Given the description of an element on the screen output the (x, y) to click on. 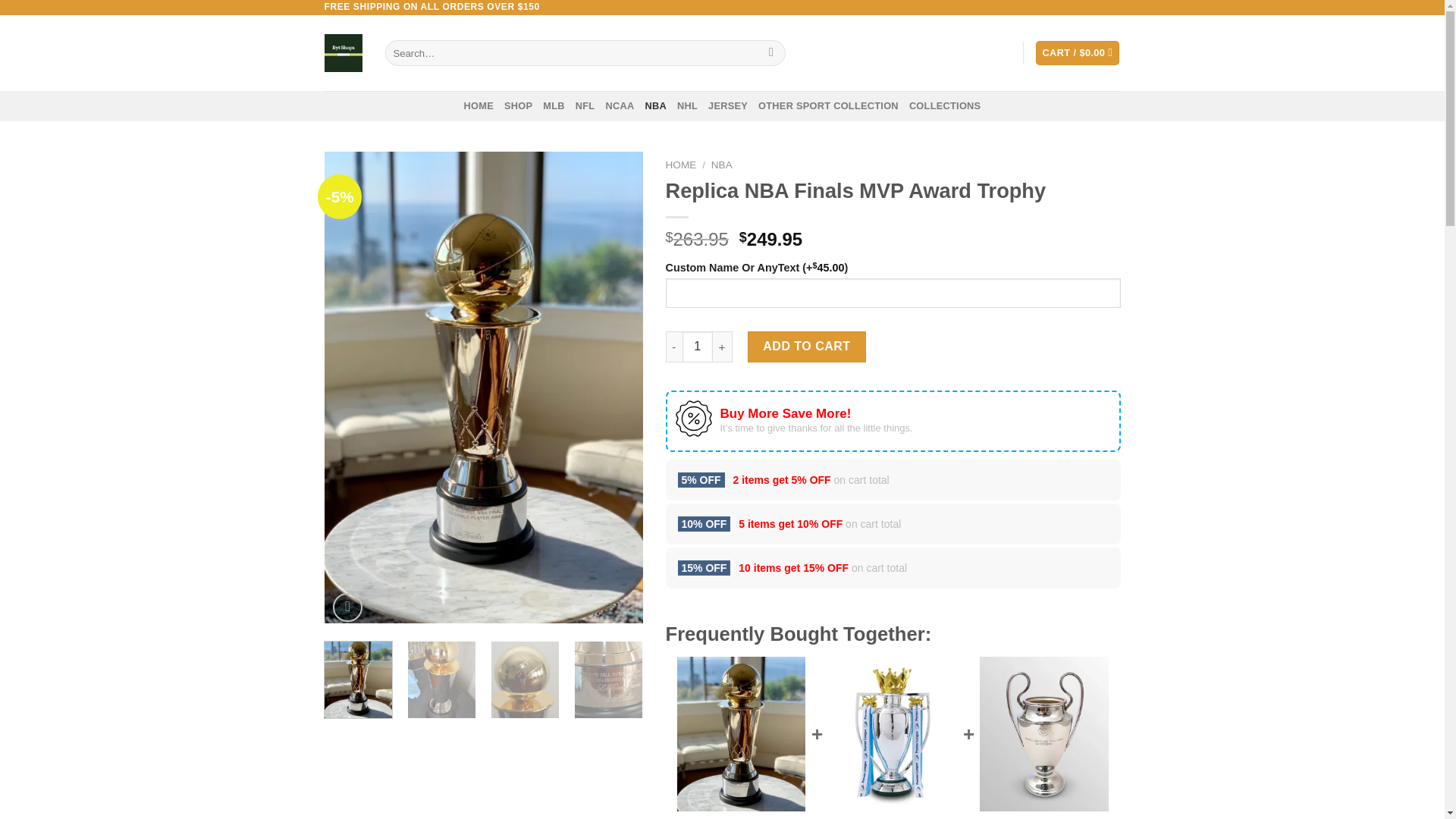
HOME (478, 105)
NBA (721, 164)
Search (771, 53)
SHOP (517, 105)
1 (697, 346)
HOME (681, 164)
Cart (1077, 53)
NCAA (619, 105)
ADD TO CART (807, 346)
COLLECTIONS (944, 105)
